Given the description of an element on the screen output the (x, y) to click on. 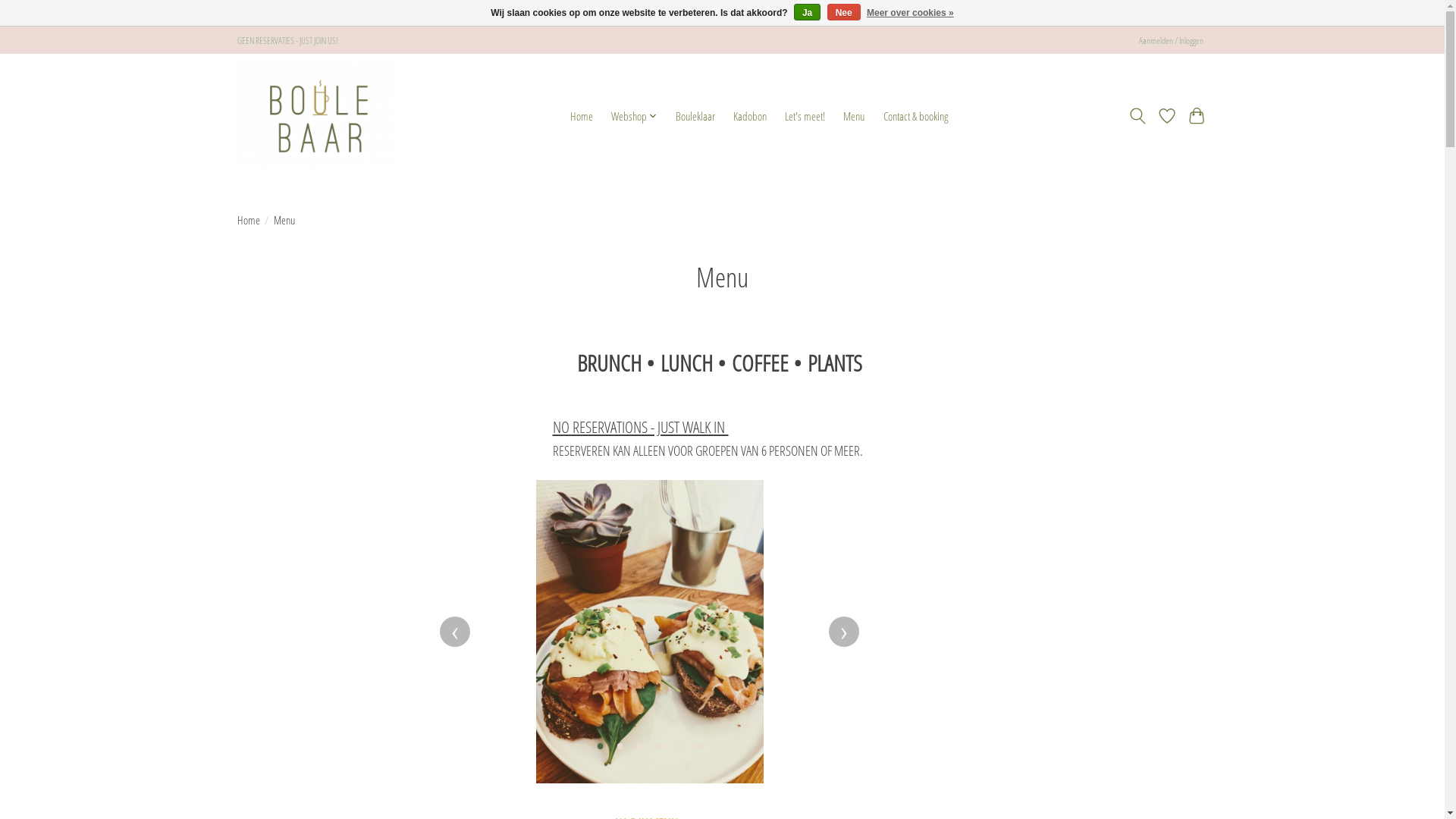
Aanmelden / Inloggen Element type: text (1170, 40)
Contact & booking Element type: text (914, 116)
Bouleklaar Element type: text (695, 116)
Kadobon Element type: text (749, 116)
Ja Element type: text (806, 11)
Menu Element type: text (853, 116)
Home Element type: text (581, 116)
Let's meet! Element type: text (804, 116)
Webshop Element type: text (634, 116)
Boulebaar Element type: hover (316, 115)
Home Element type: text (247, 219)
Nee Element type: text (843, 11)
